Given the description of an element on the screen output the (x, y) to click on. 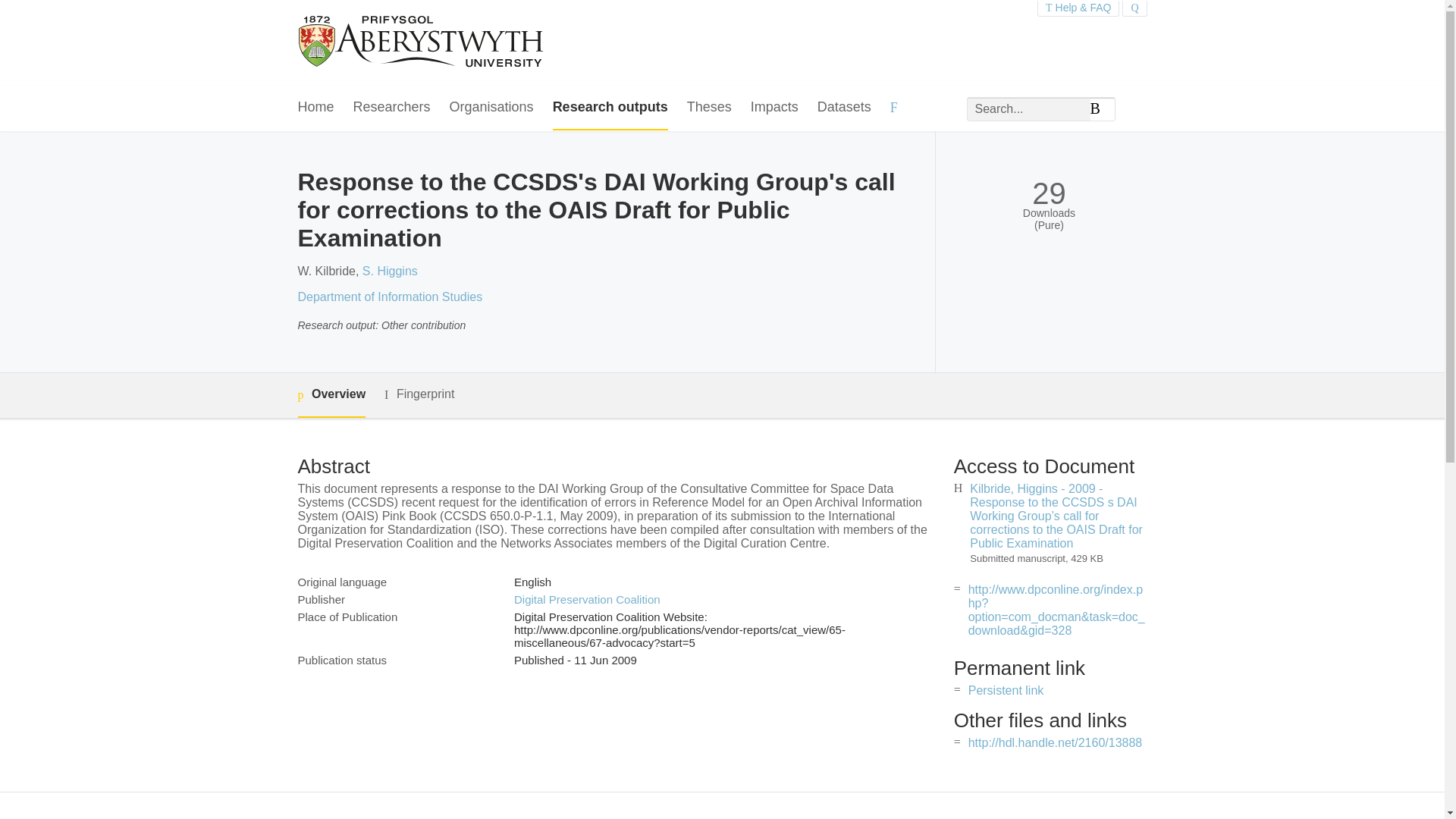
Department of Information Studies (389, 296)
Organisations (491, 107)
Fingerprint (419, 394)
Researchers (391, 107)
Impacts (774, 107)
Digital Preservation Coalition (587, 599)
Aberystwyth Research Portal Home (422, 42)
Datasets (843, 107)
Theses (709, 107)
